Given the description of an element on the screen output the (x, y) to click on. 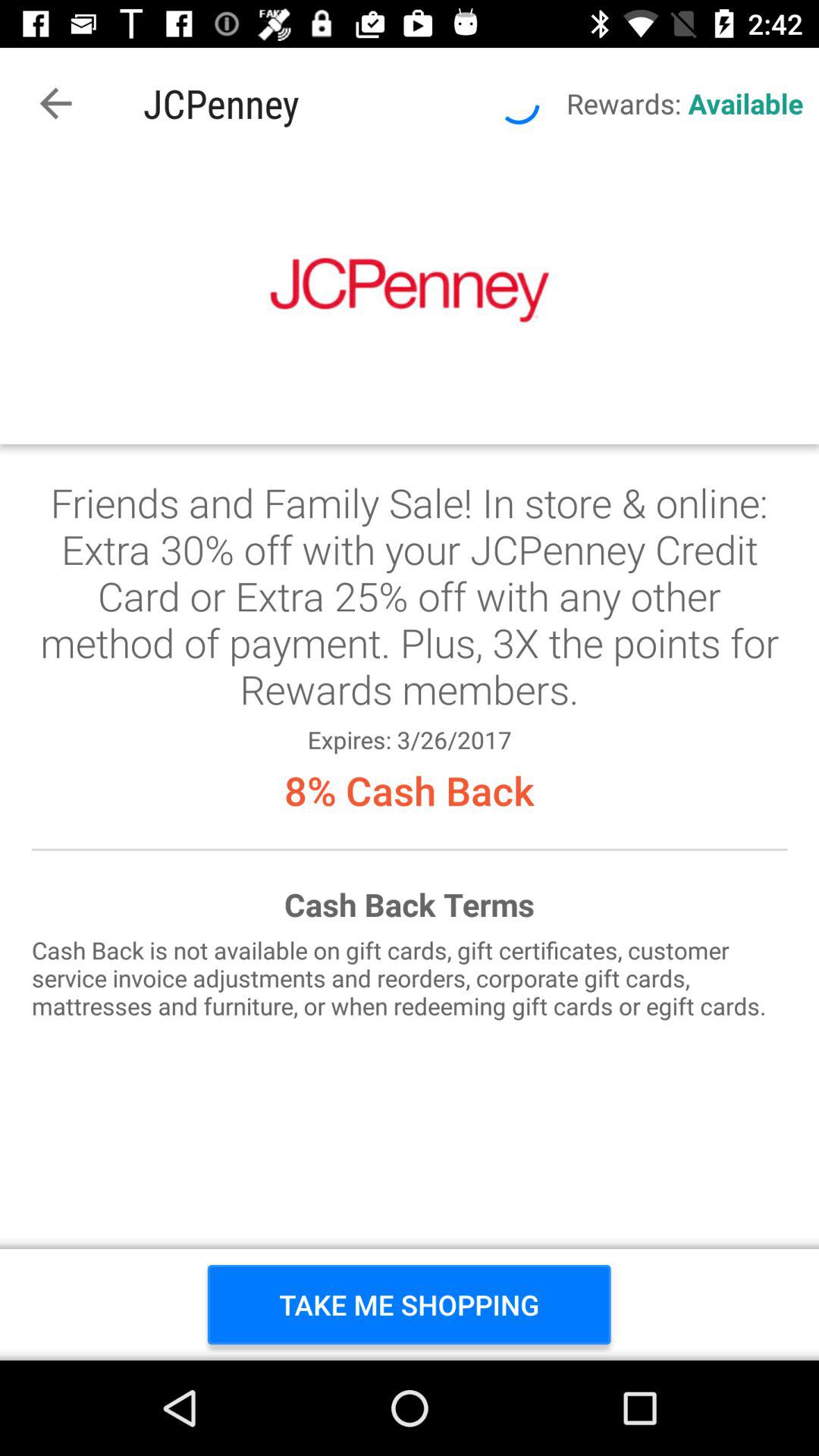
press the take me shopping icon (408, 1304)
